Given the description of an element on the screen output the (x, y) to click on. 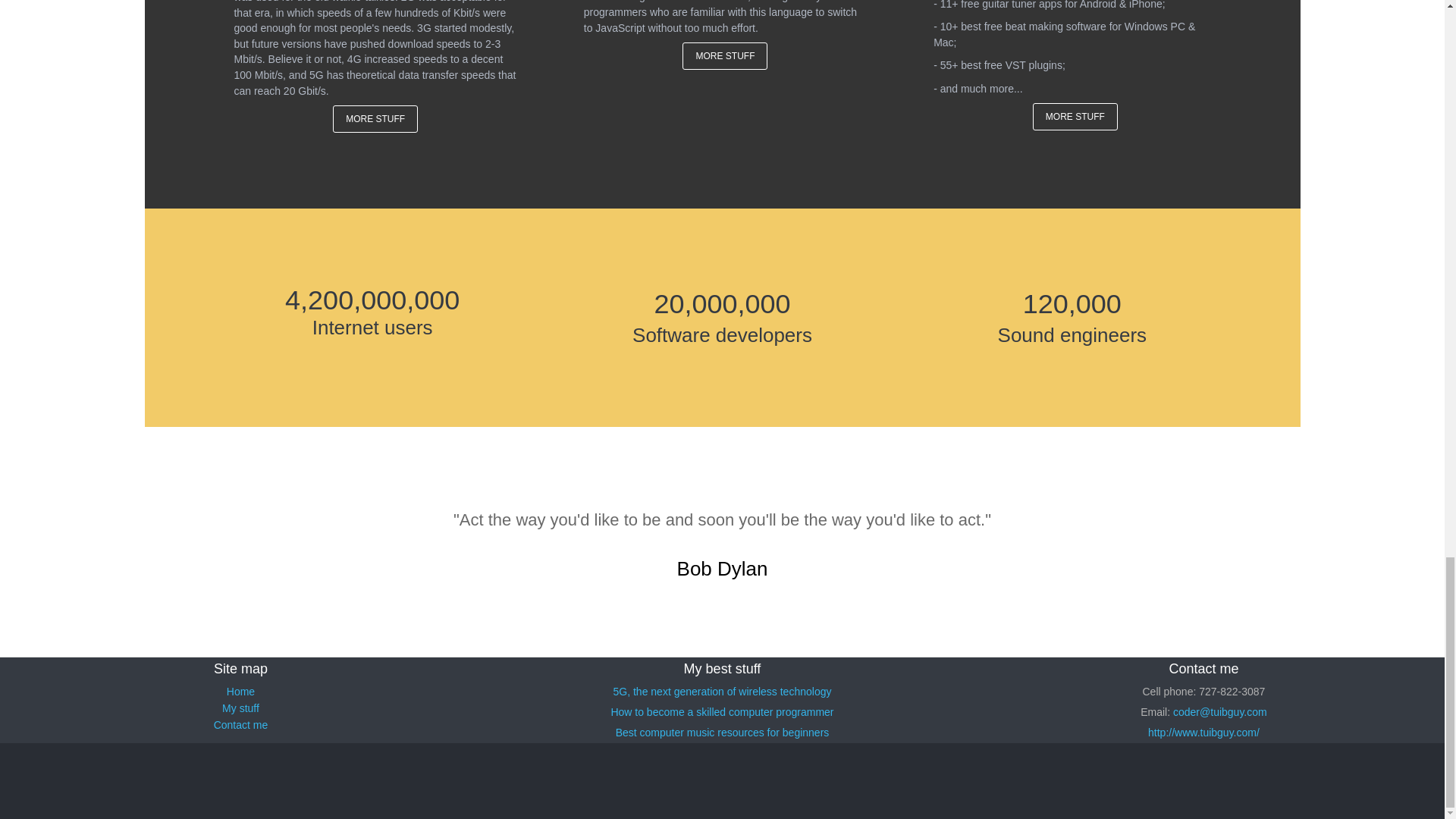
MORE STUFF (1075, 116)
Best computer music resources for beginners (722, 731)
Home (240, 690)
Contact me (240, 724)
How to become a skilled computer programmer (721, 711)
5G, the next generation of wireless technology (721, 690)
MORE STUFF (724, 55)
My stuff (240, 707)
MORE STUFF (375, 118)
